Given the description of an element on the screen output the (x, y) to click on. 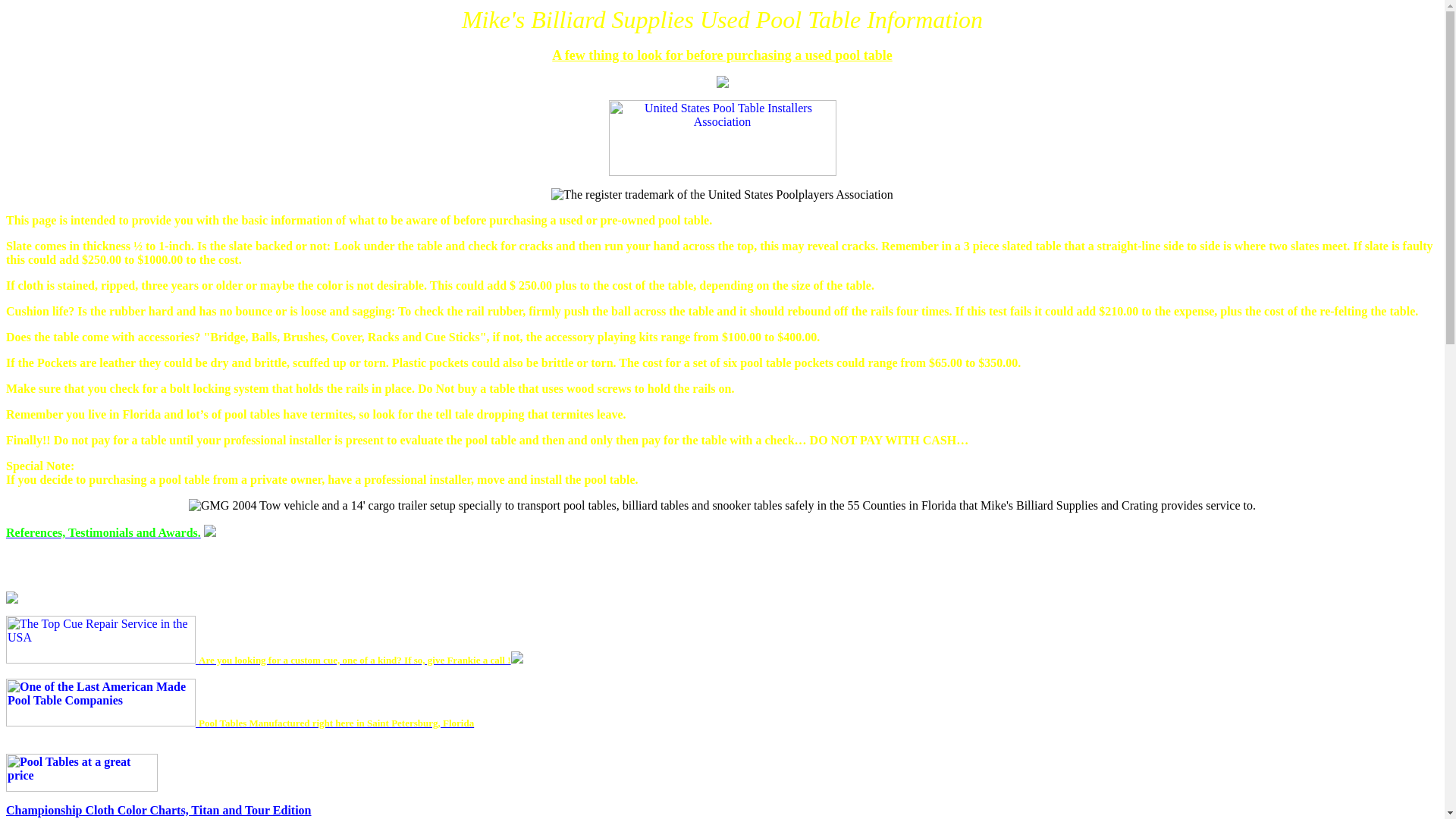
References, Testimonials and Awards. (102, 532)
Championship Cloth Color Charts, Titan and Tour Edition (158, 809)
